Given the description of an element on the screen output the (x, y) to click on. 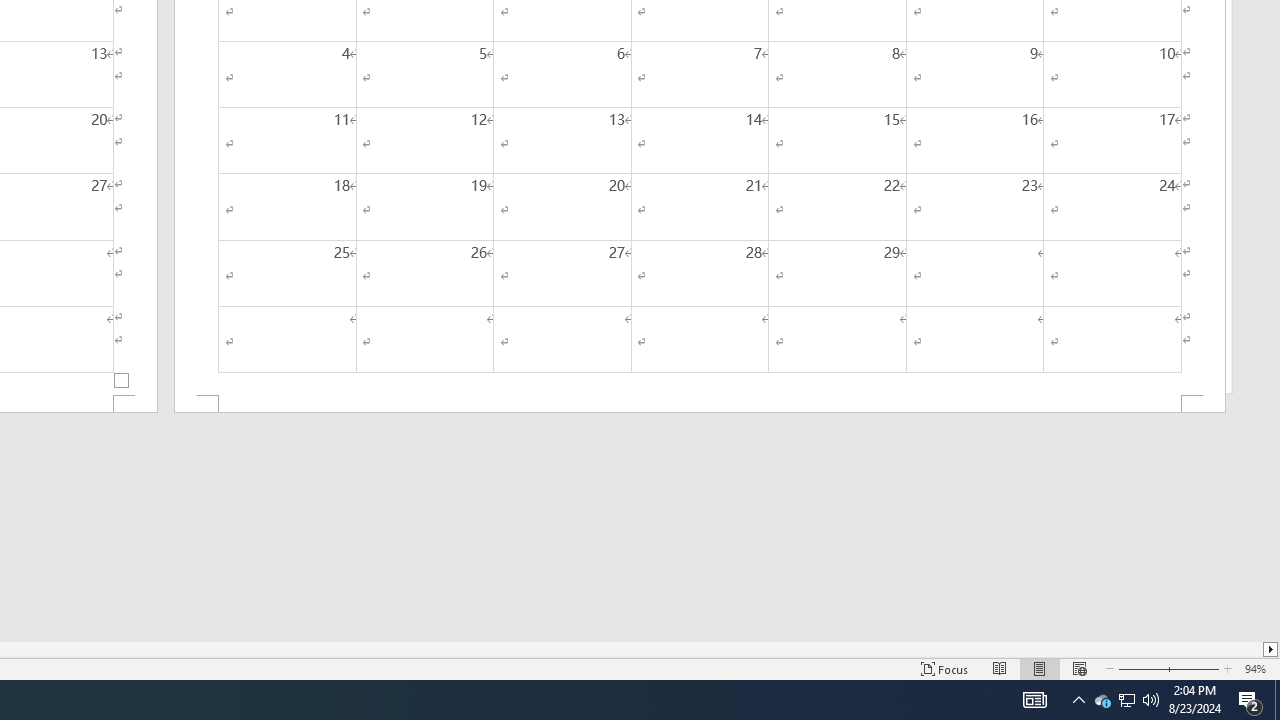
Footer -Section 2- (700, 404)
Column right (1271, 649)
